Given the description of an element on the screen output the (x, y) to click on. 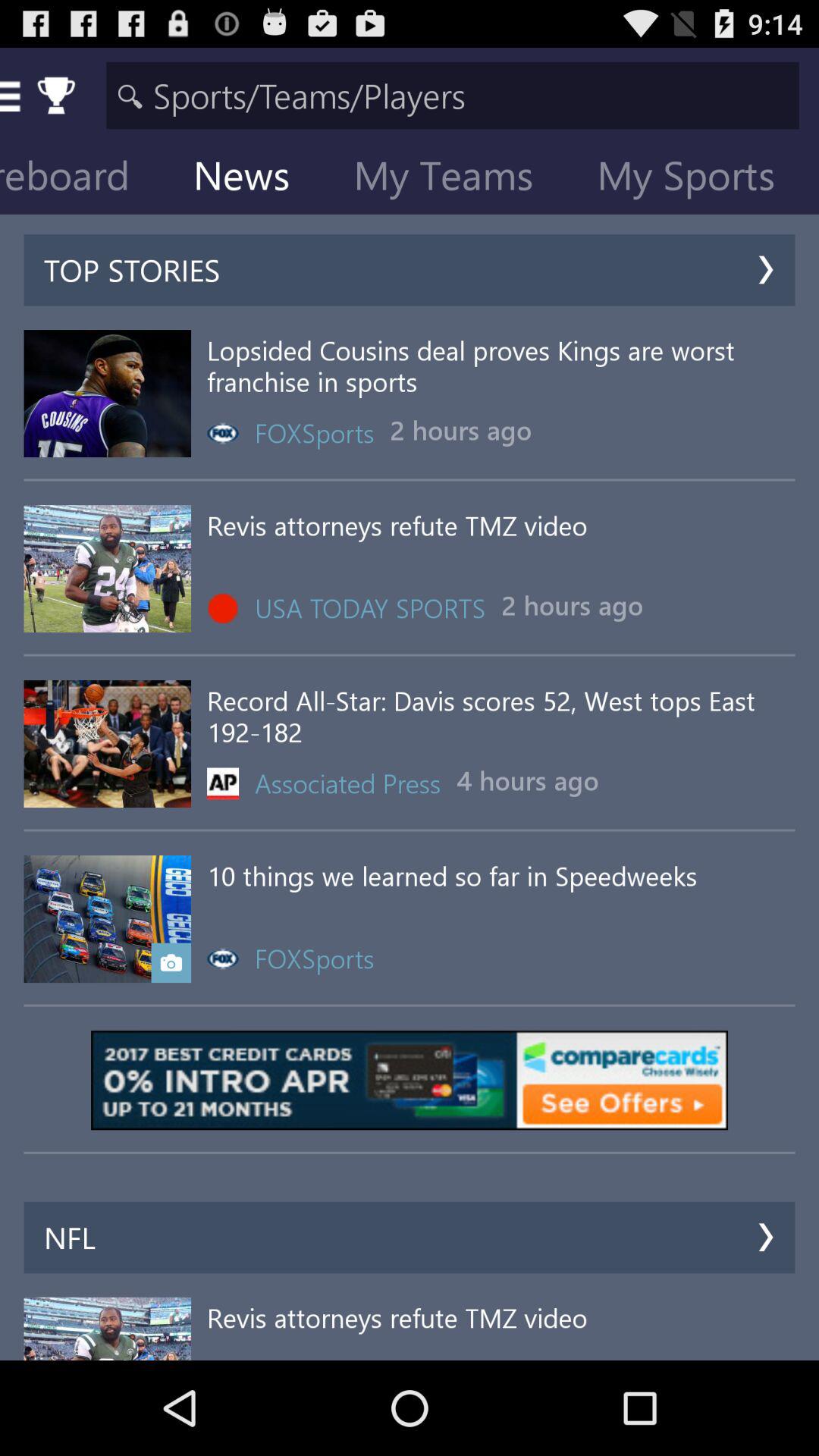
turn on the my teams (455, 178)
